Given the description of an element on the screen output the (x, y) to click on. 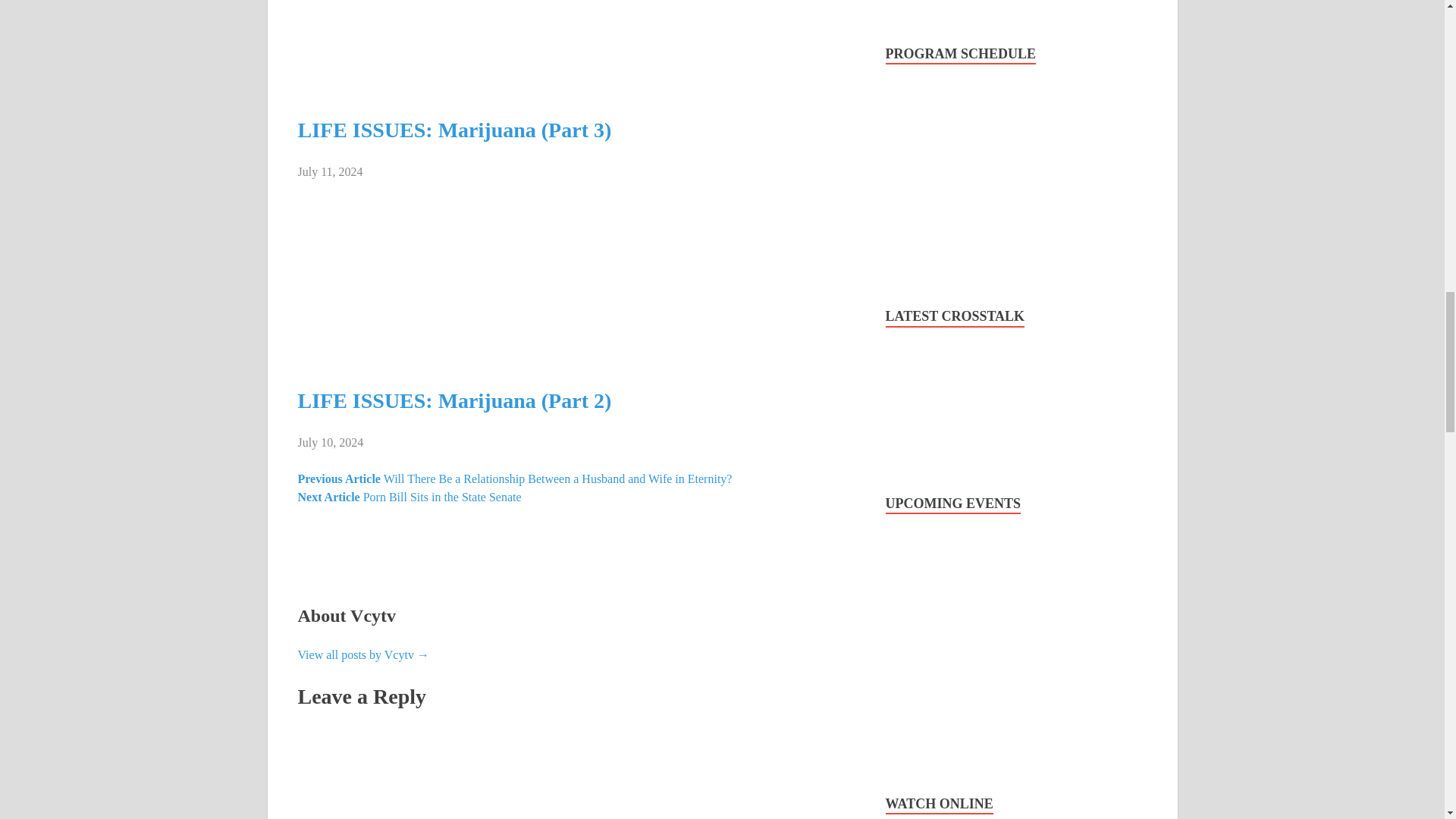
Vcytv (362, 654)
Comment Form (575, 774)
